Given the description of an element on the screen output the (x, y) to click on. 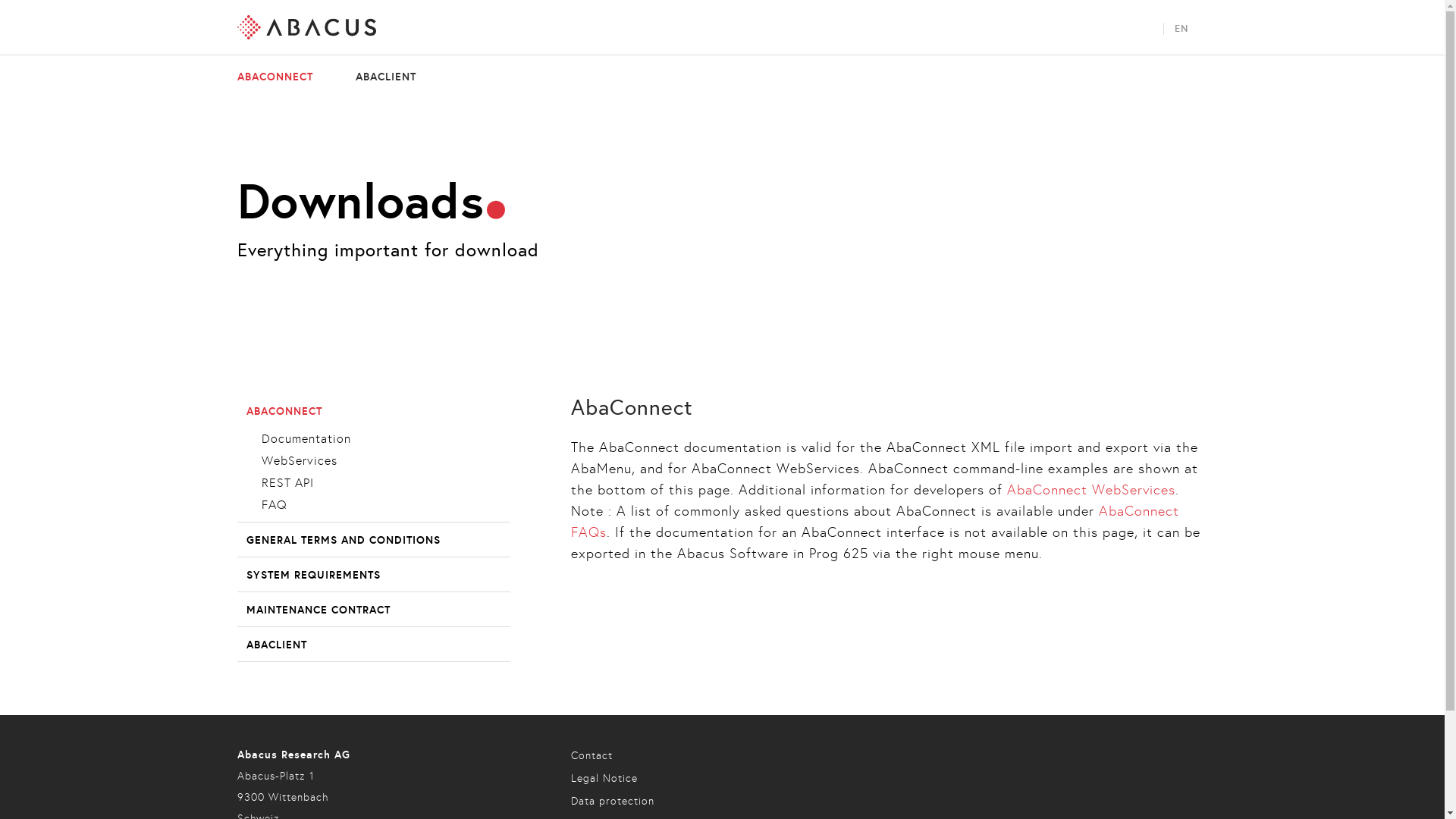
FAQ Element type: text (273, 504)
SYSTEM REQUIREMENTS Element type: text (312, 574)
Contact Element type: text (590, 755)
ABACLIENT Element type: text (275, 644)
MAINTENANCE CONTRACT Element type: text (317, 609)
ABACLIENT Element type: text (376, 76)
Documentation Element type: text (305, 438)
ABACONNECT Element type: text (283, 410)
GENERAL TERMS AND CONDITIONS Element type: text (342, 539)
AbaConnect Element type: text (1049, 489)
WebServices Element type: text (298, 460)
AbaConnect FAQs Element type: text (874, 521)
Legal Notice Element type: text (603, 777)
REST API Element type: text (286, 482)
ABACONNECT Element type: text (283, 76)
Data protection Element type: text (611, 800)
WebServices Element type: text (1133, 489)
